Given the description of an element on the screen output the (x, y) to click on. 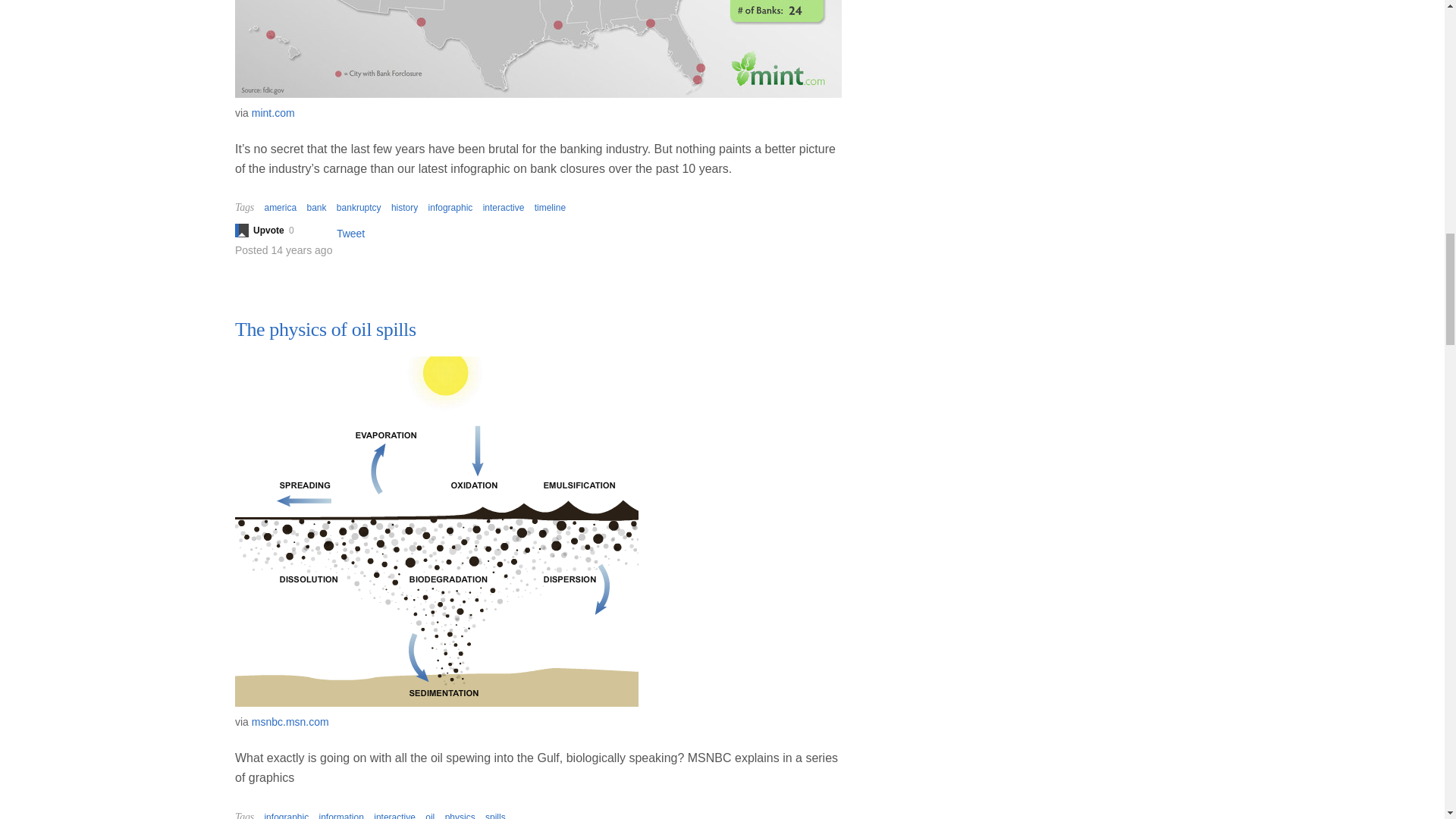
infographic (450, 207)
interactive (503, 207)
bank (315, 207)
bankruptcy (358, 207)
america (280, 207)
mint.com (273, 112)
history (404, 207)
